Given the description of an element on the screen output the (x, y) to click on. 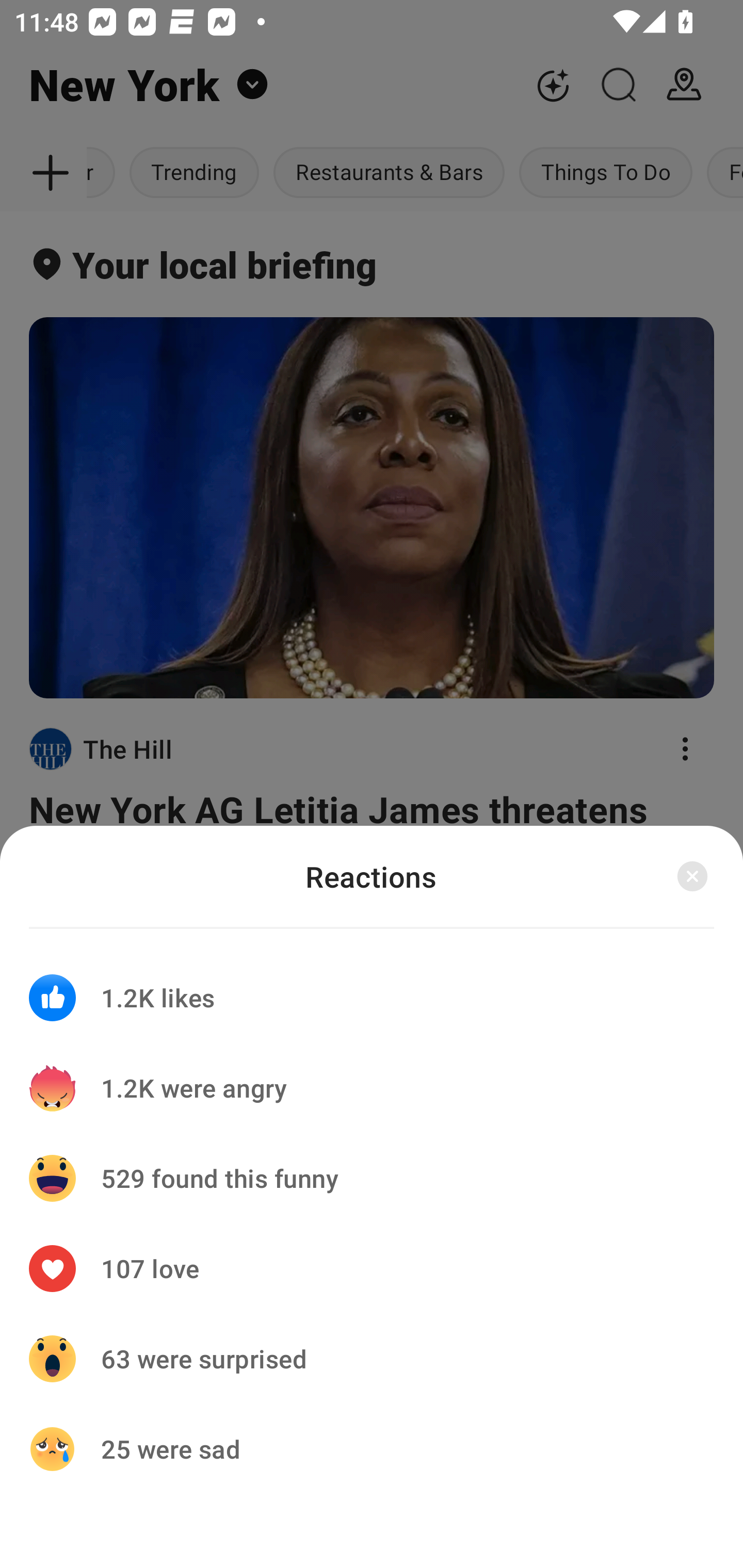
1.2K likes (371, 985)
1.2K were angry (371, 1087)
529 found this funny (371, 1178)
107 love (371, 1268)
63 were surprised (371, 1358)
25 were sad (371, 1448)
